Given the description of an element on the screen output the (x, y) to click on. 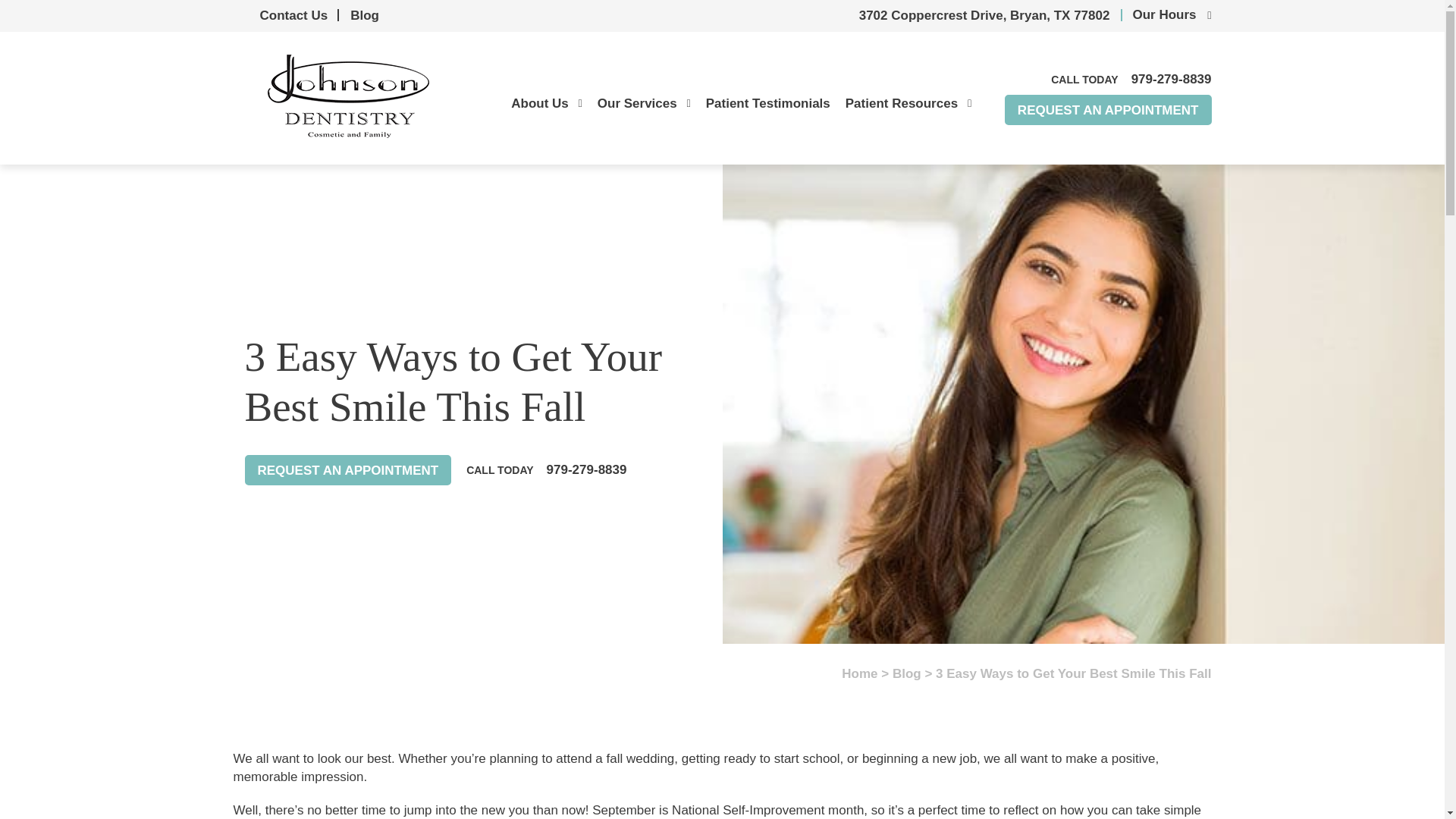
About Us (546, 103)
3702 Coppercrest Drive, Bryan, TX 77802 (980, 15)
Contact Us (293, 15)
Blog (364, 15)
Patient Testimonials (767, 103)
